Given the description of an element on the screen output the (x, y) to click on. 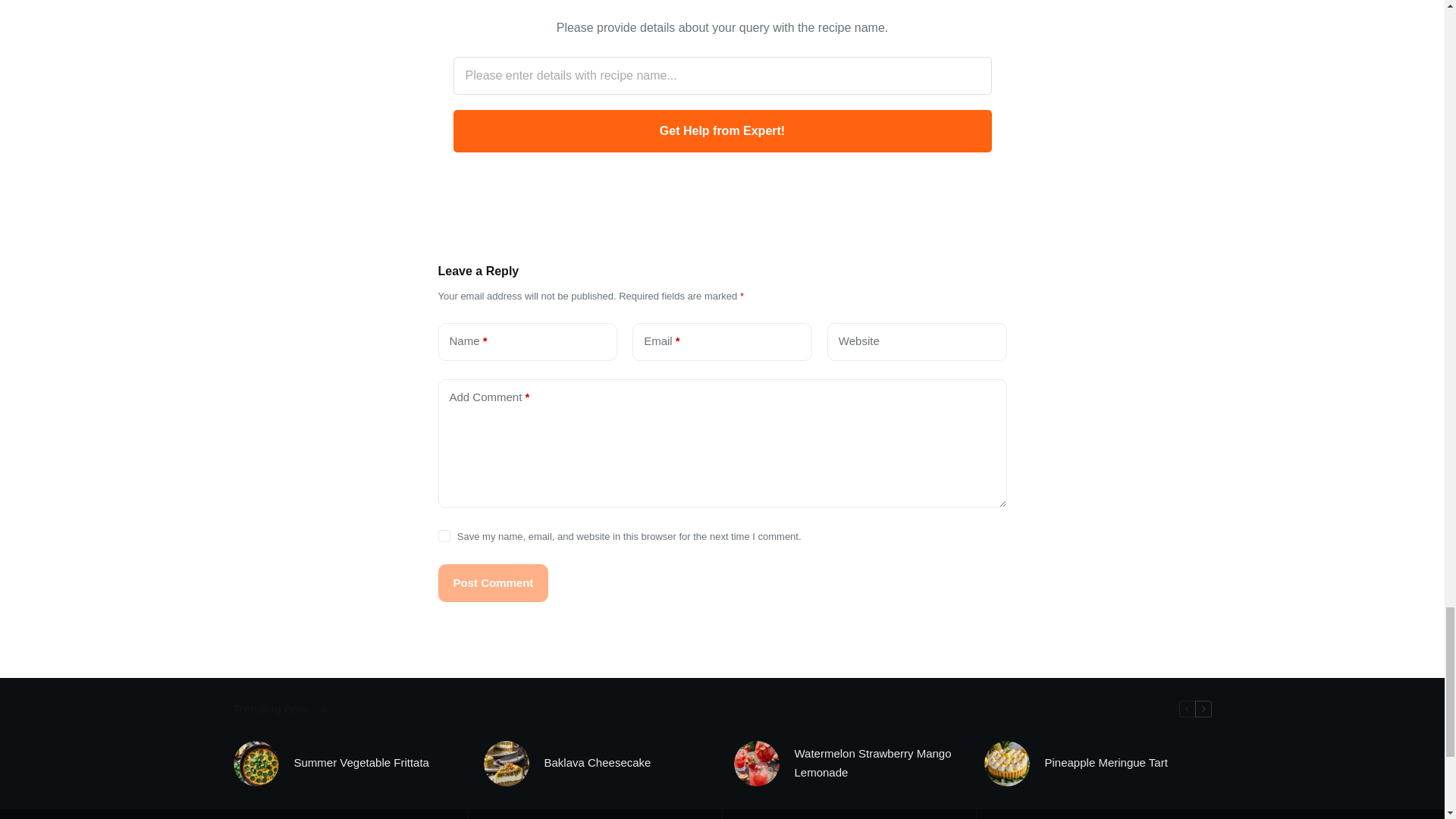
Summer Vegetable Frittata (361, 763)
yes (443, 535)
Post Comment (493, 582)
Get Help from Expert! (721, 130)
Baklava Cheesecake (597, 763)
Pineapple Meringue Tart (1106, 763)
Watermelon Strawberry Mango Lemonade (877, 763)
